Given the description of an element on the screen output the (x, y) to click on. 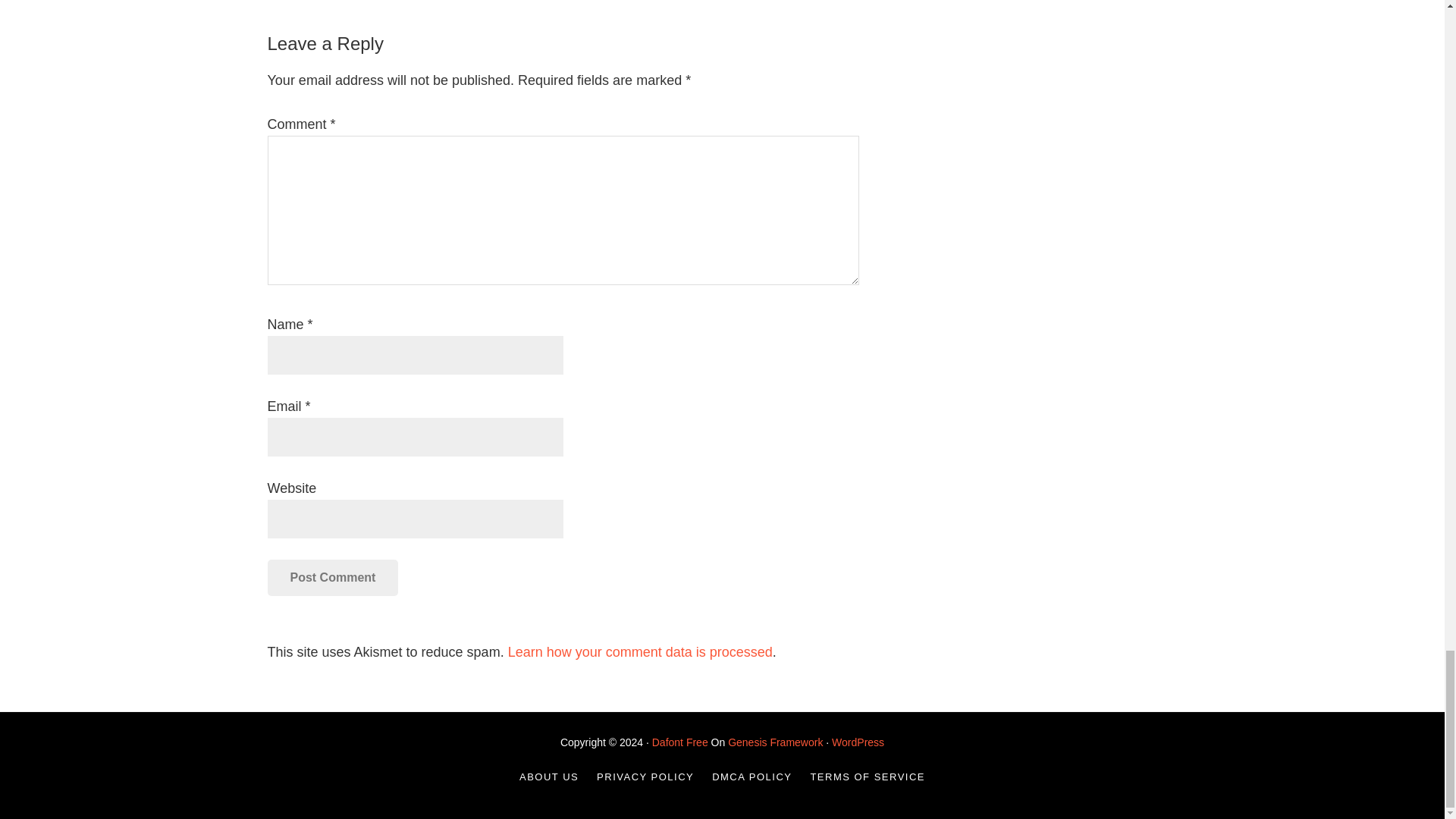
Post Comment (331, 577)
Learn how your comment data is processed (640, 652)
Post Comment (331, 577)
